Given the description of an element on the screen output the (x, y) to click on. 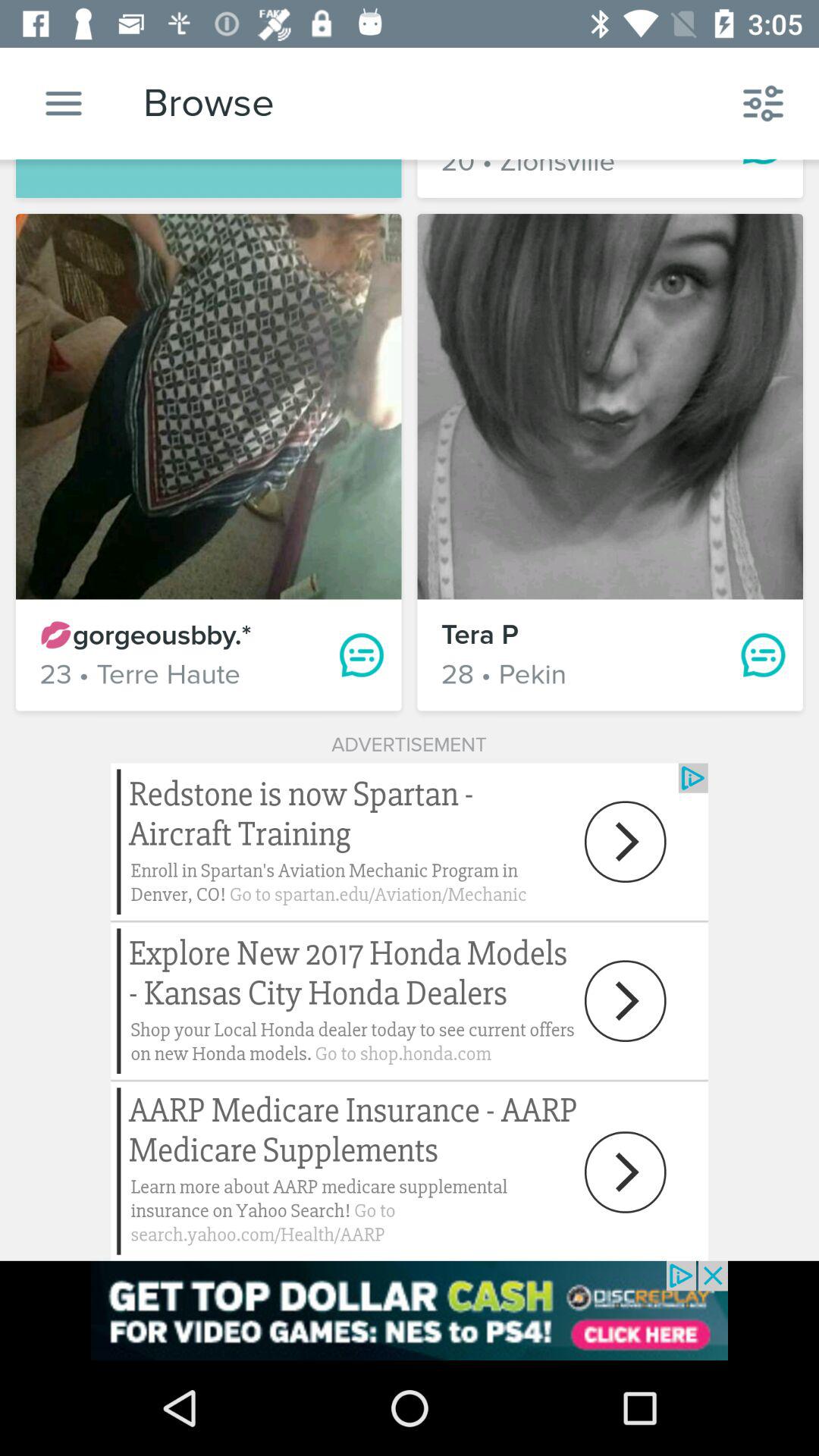
select the picture (610, 406)
